Given the description of an element on the screen output the (x, y) to click on. 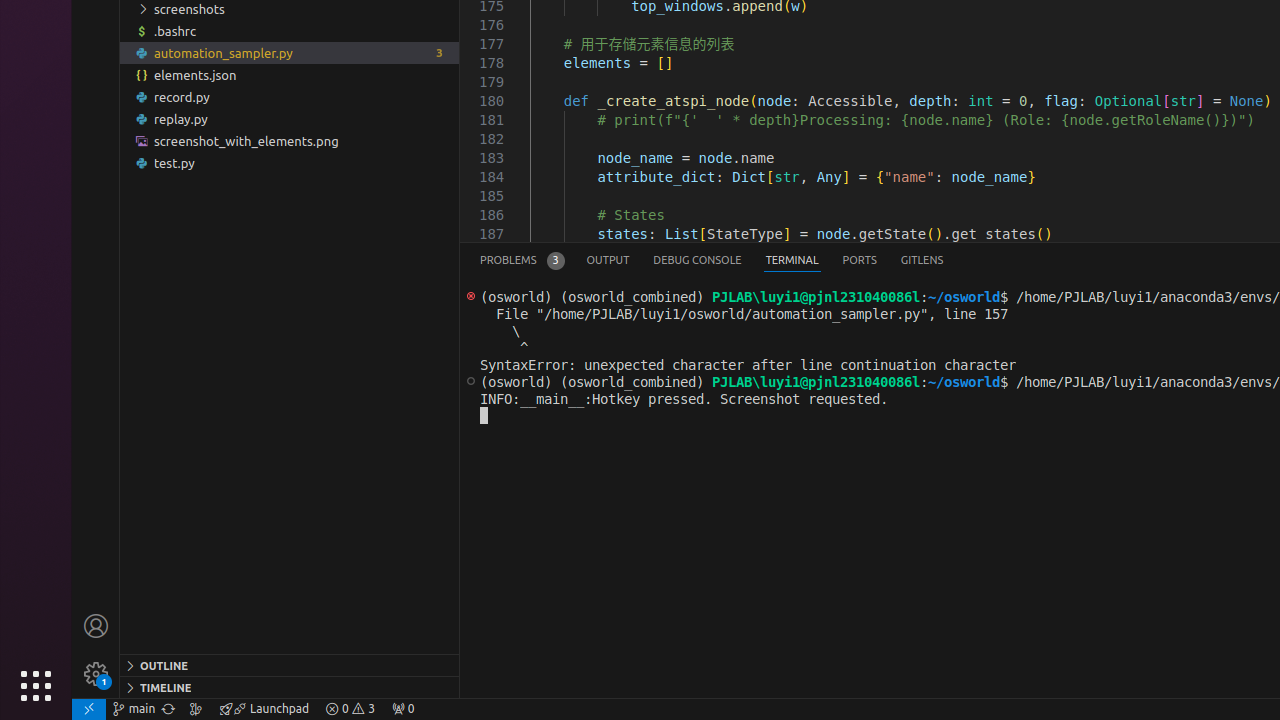
Problems (Ctrl+Shift+M) - Total 3 Problems Element type: page-tab (521, 260)
Debug Console (Ctrl+Shift+Y) Element type: page-tab (697, 260)
test.py Element type: tree-item (289, 163)
replay.py Element type: tree-item (289, 119)
OSWorld (Git) - main, Checkout Branch/Tag... Element type: push-button (134, 709)
